Given the description of an element on the screen output the (x, y) to click on. 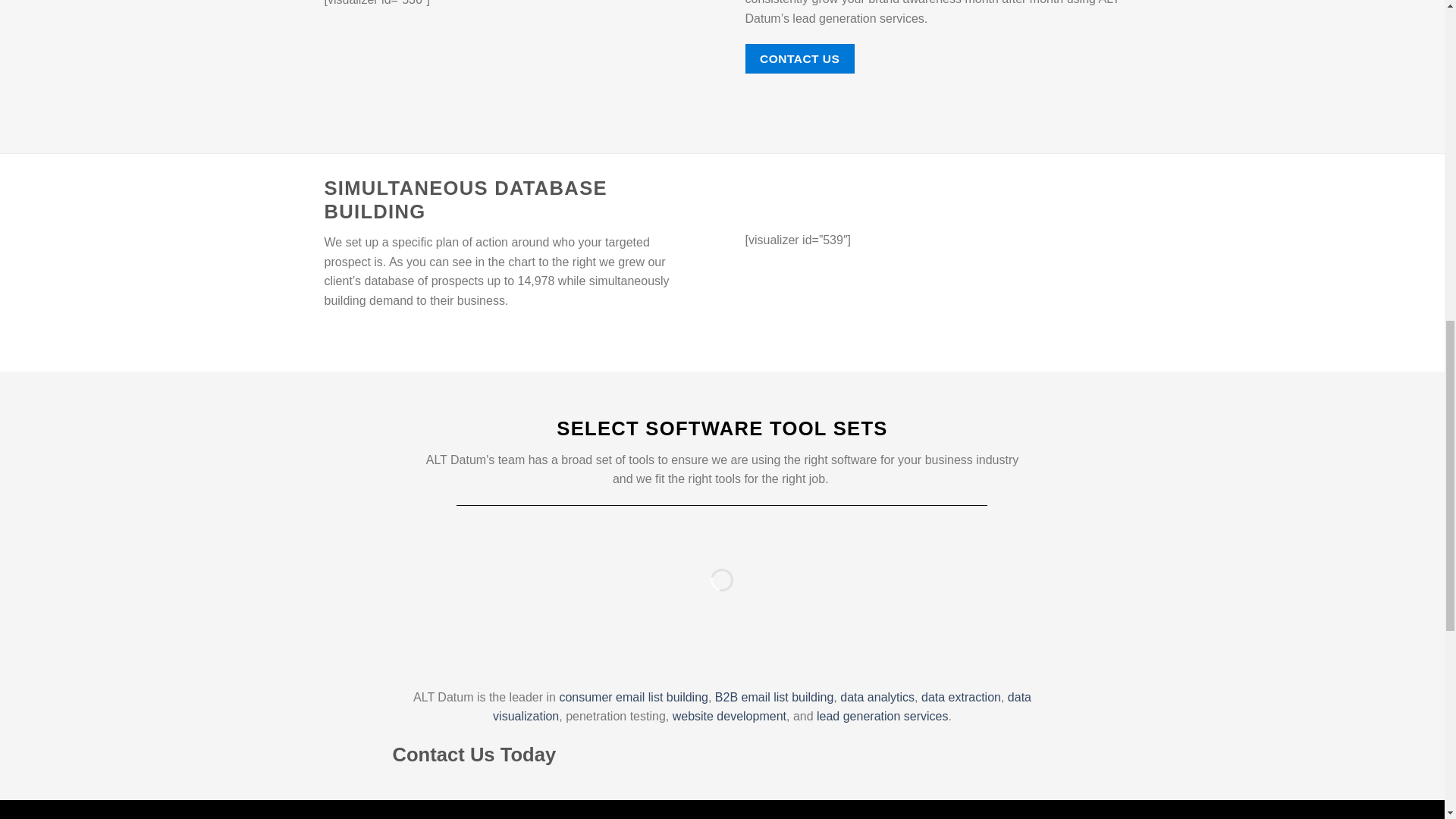
consumer email list building (633, 697)
website development (729, 716)
data analytics (877, 697)
B2B email list building (774, 697)
CONTACT US (798, 58)
data extraction (961, 697)
lead generation services (881, 716)
data visualization (761, 707)
